Given the description of an element on the screen output the (x, y) to click on. 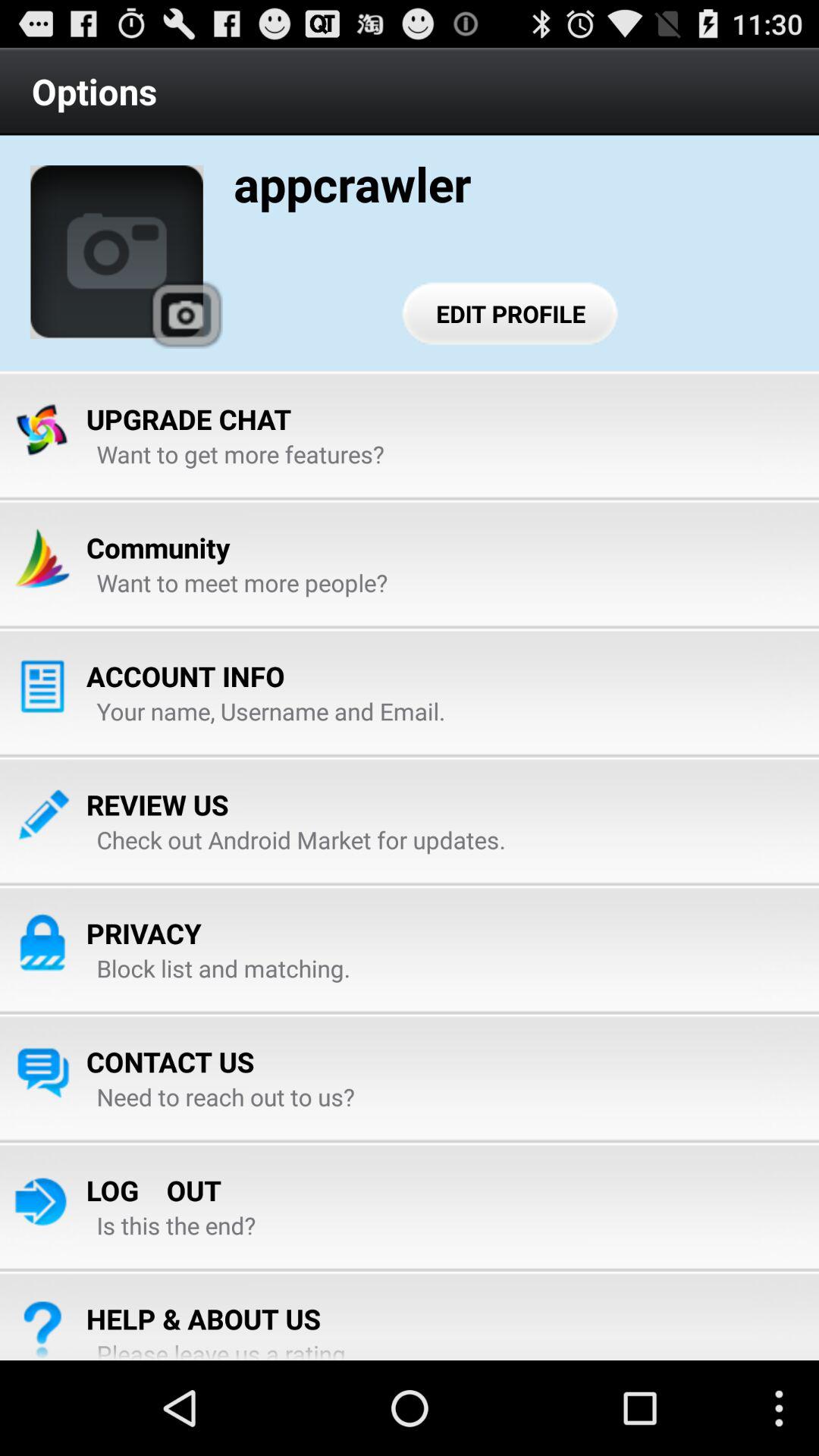
turn on the app below want to meet icon (185, 676)
